Given the description of an element on the screen output the (x, y) to click on. 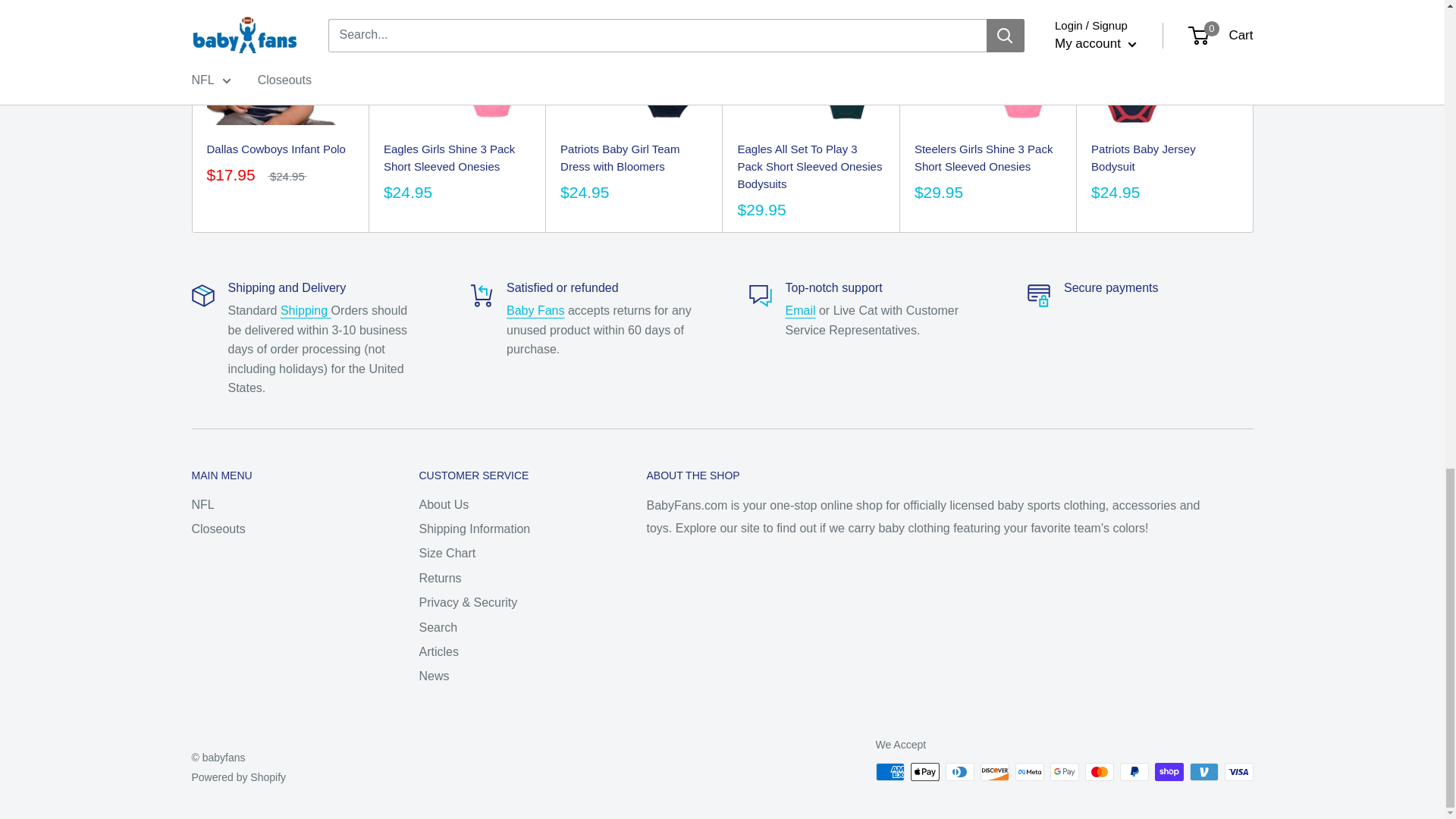
Returns (535, 309)
Shipping Policy (306, 309)
Contact Us (800, 309)
